Given the description of an element on the screen output the (x, y) to click on. 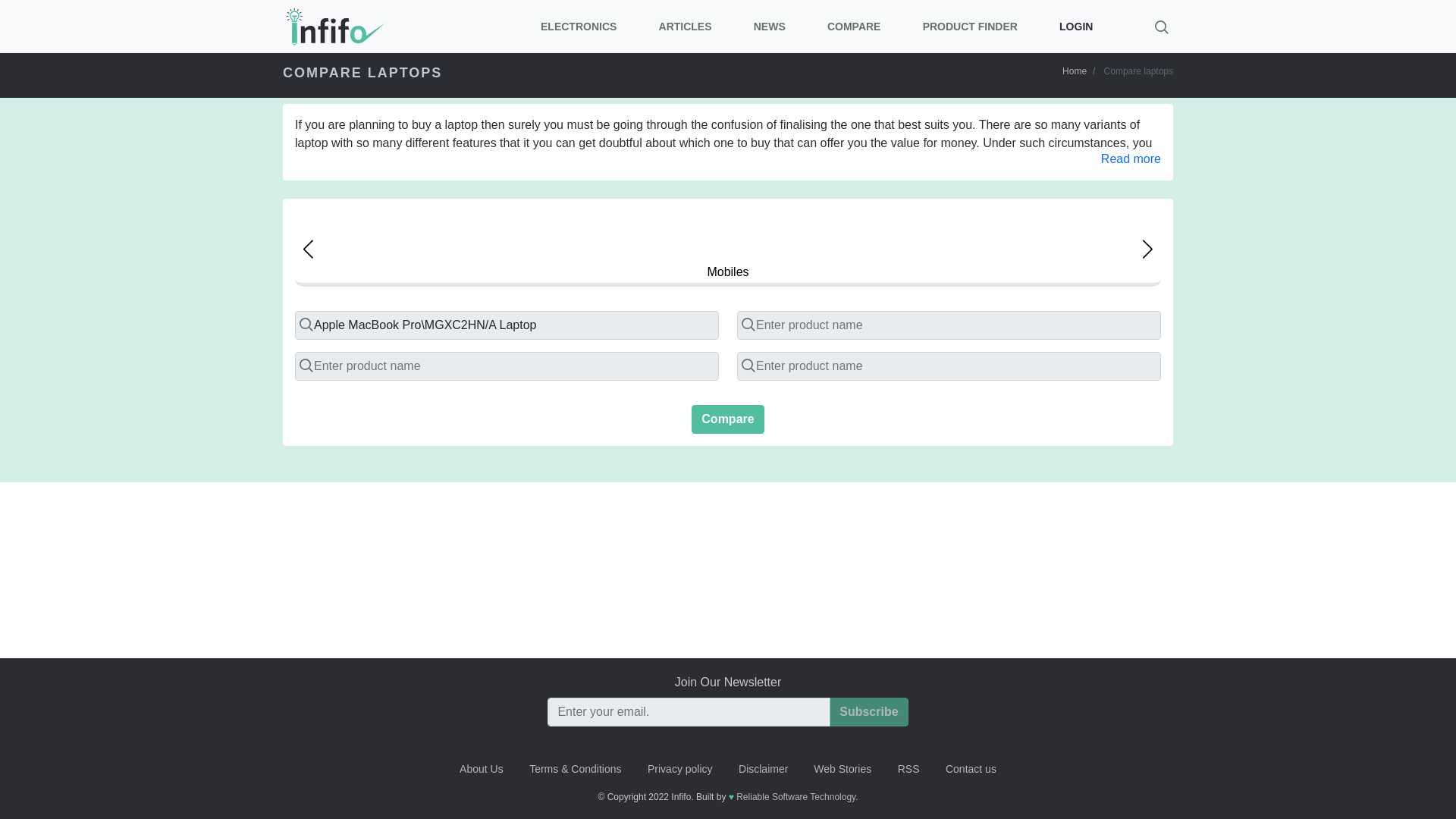
LOGIN (1075, 26)
ARTICLES (684, 26)
PRODUCT FINDER (969, 26)
COMPARE (853, 26)
ELECTRONICS (578, 26)
NEWS (769, 26)
